Given the description of an element on the screen output the (x, y) to click on. 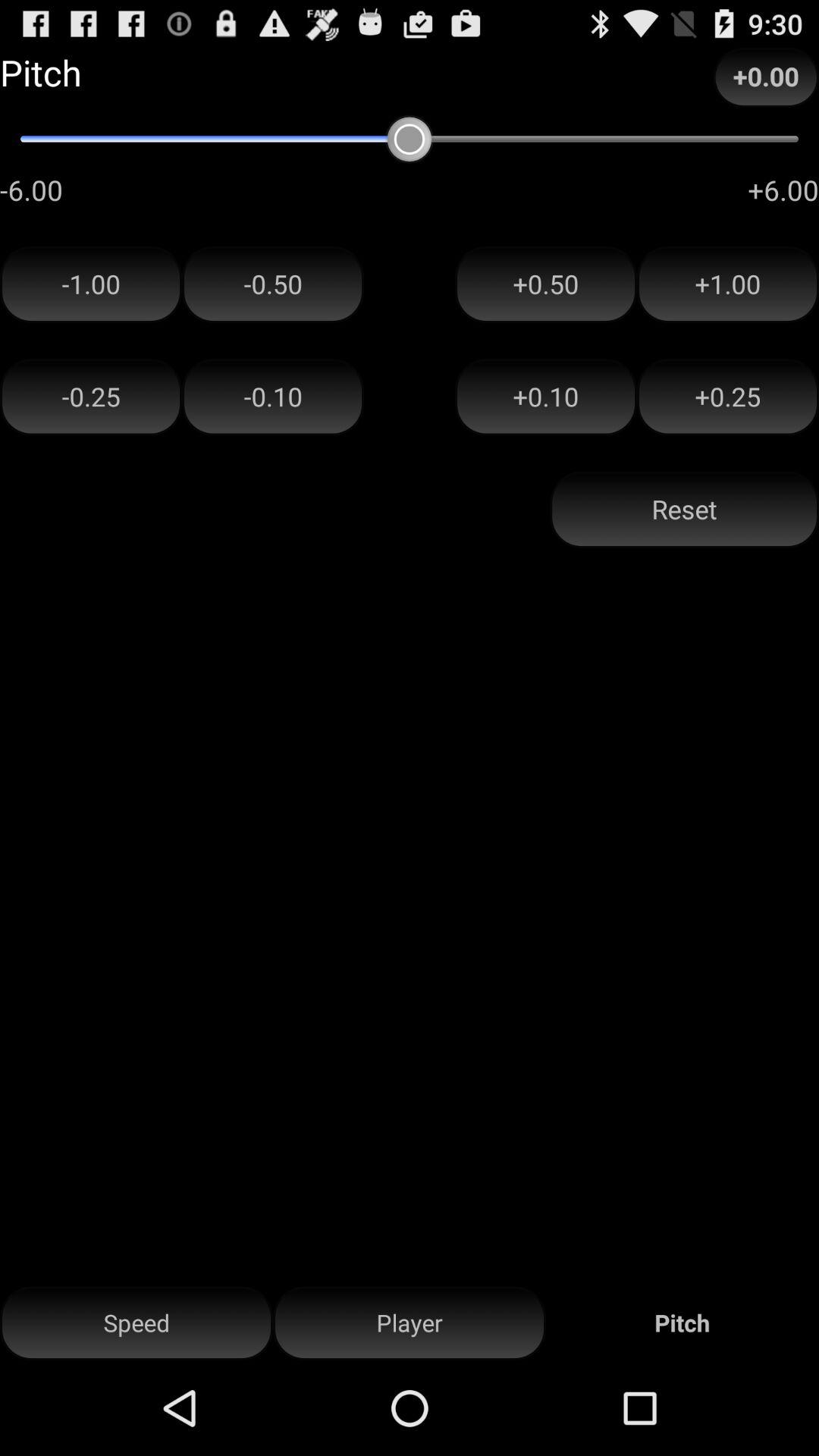
tap item on the right (684, 509)
